Given the description of an element on the screen output the (x, y) to click on. 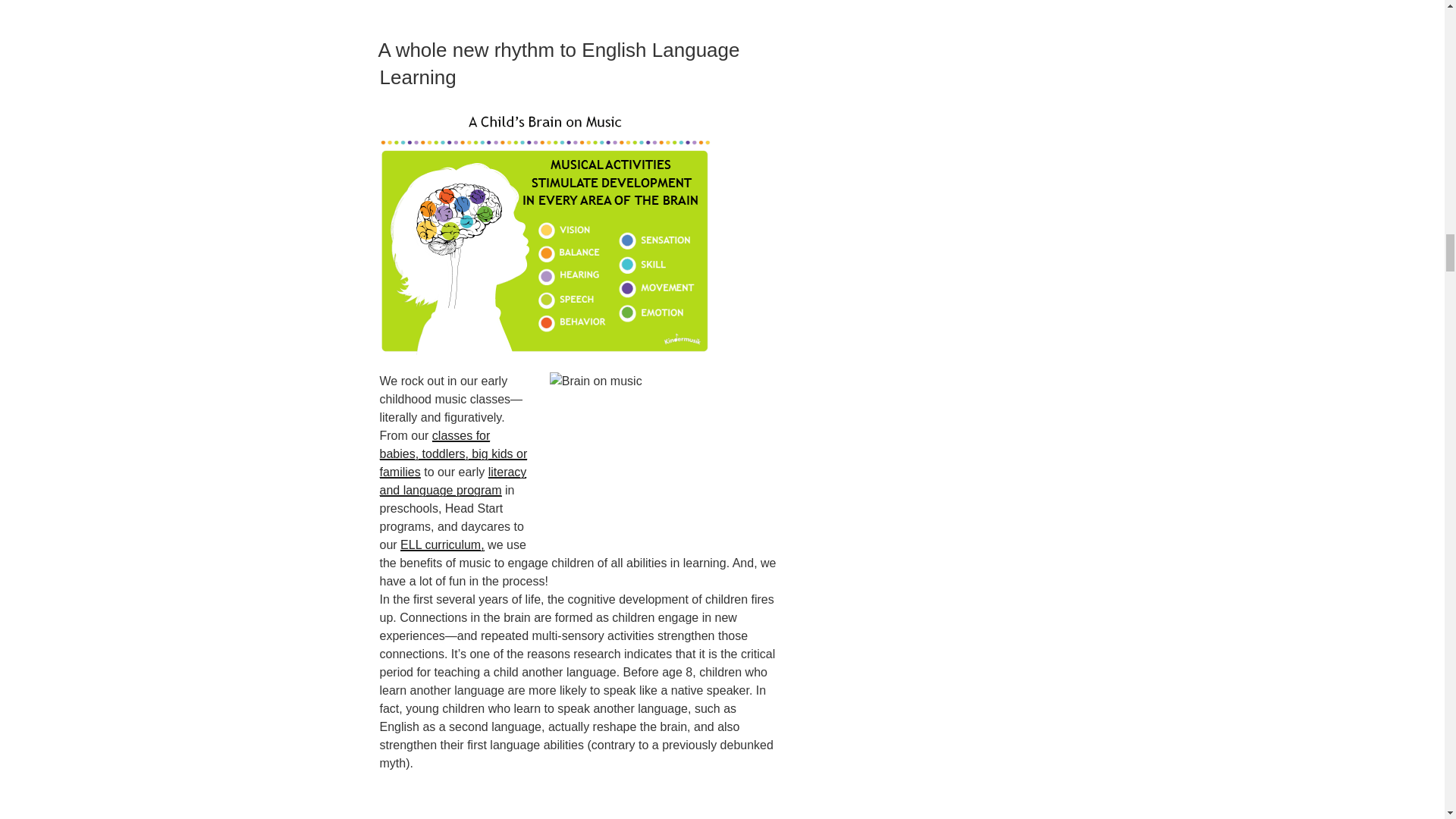
Kindermusik Class Locator (452, 453)
Kindermusik schools (451, 481)
A whole new rhythm to English Language Learning (558, 63)
classes for babies, toddlers, big kids or families (452, 453)
